Given the description of an element on the screen output the (x, y) to click on. 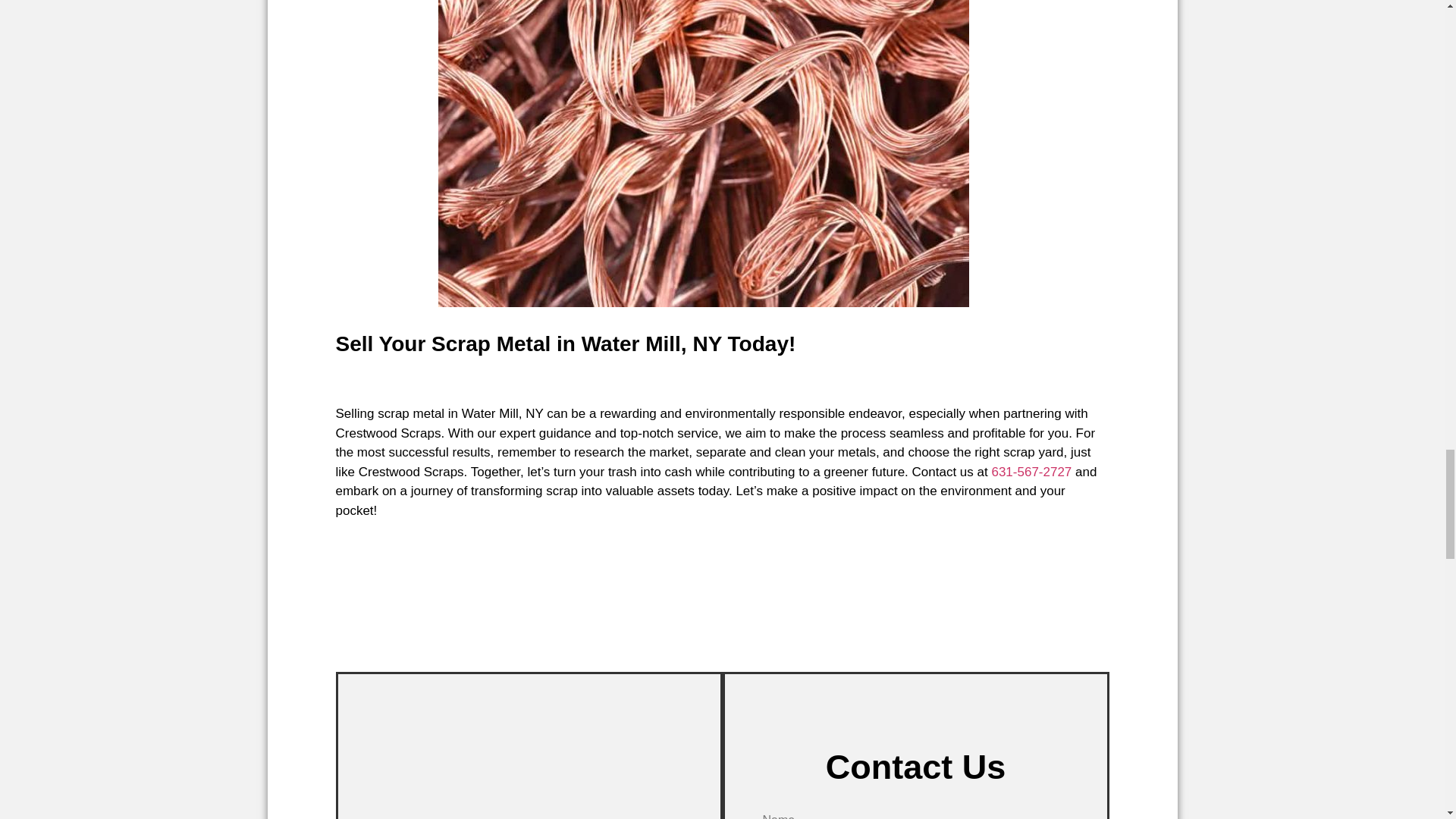
631-567-2727 (1031, 472)
